Given the description of an element on the screen output the (x, y) to click on. 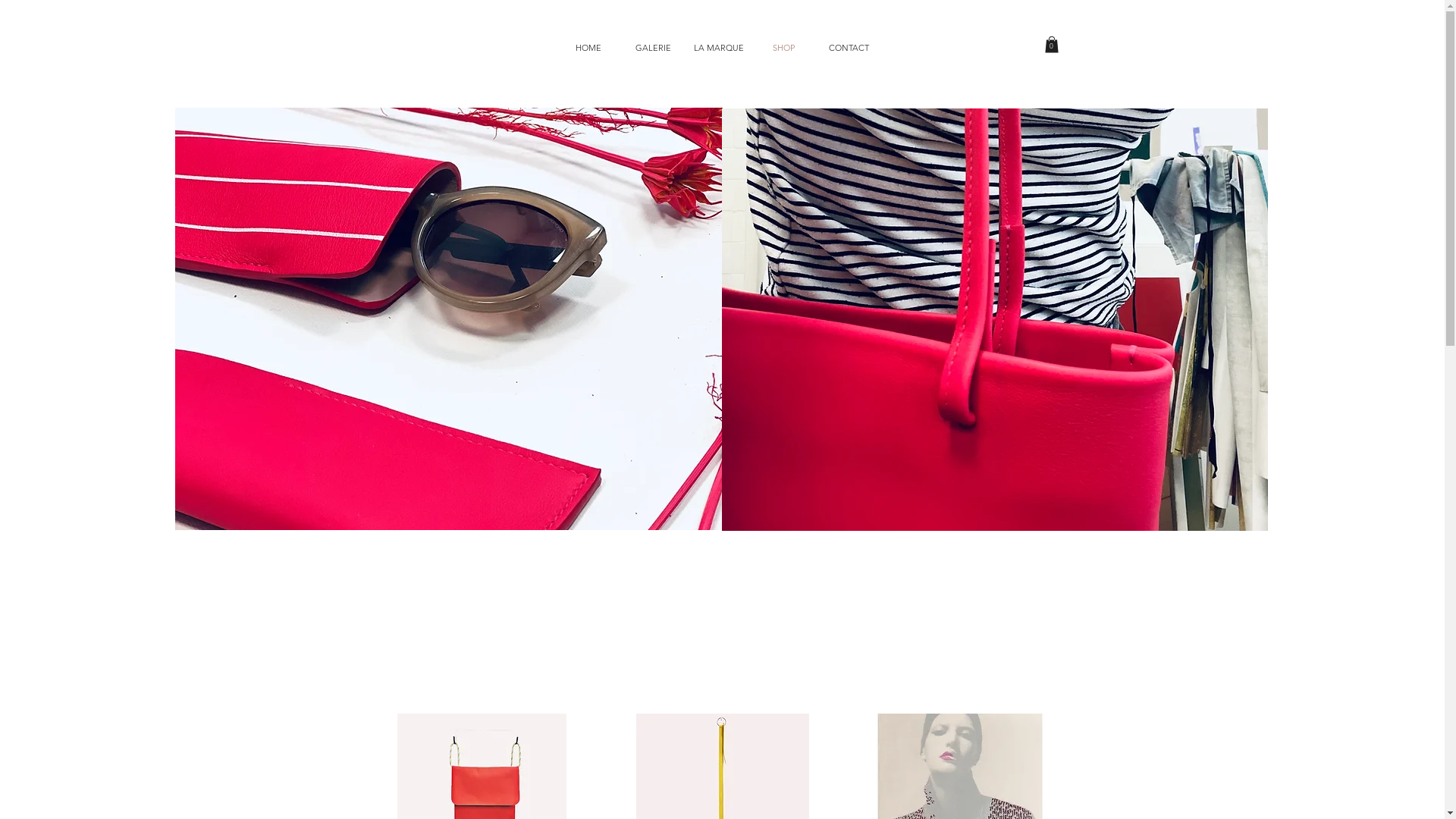
SHOP Element type: text (782, 47)
LA MARQUE Element type: text (717, 47)
GALERIE Element type: text (652, 47)
0 Element type: text (1051, 44)
CONTACT Element type: text (848, 47)
HOME Element type: text (587, 47)
